Given the description of an element on the screen output the (x, y) to click on. 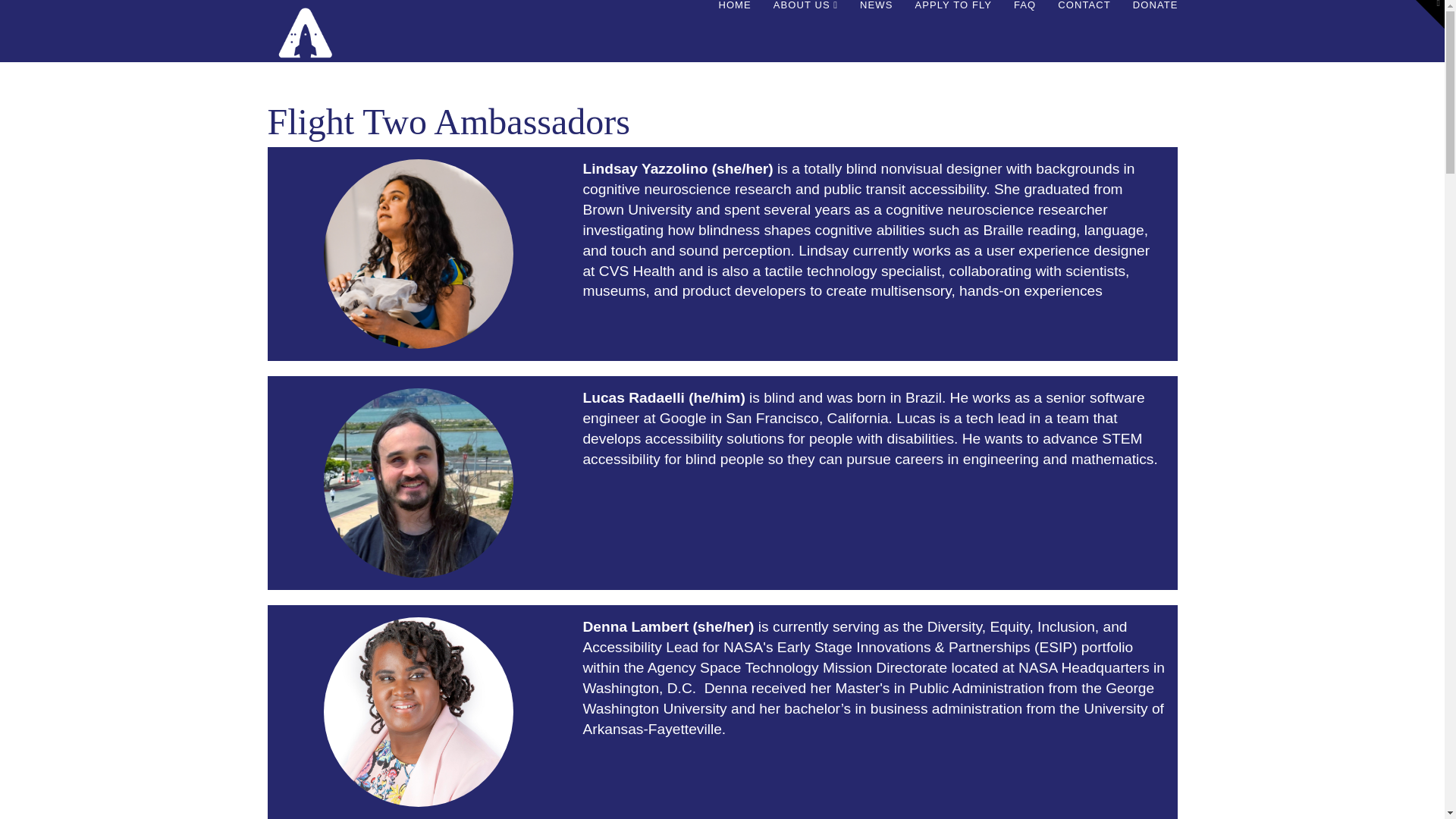
ABOUT US (804, 41)
APPLY TO FLY (952, 41)
CONTACT (1083, 41)
